Given the description of an element on the screen output the (x, y) to click on. 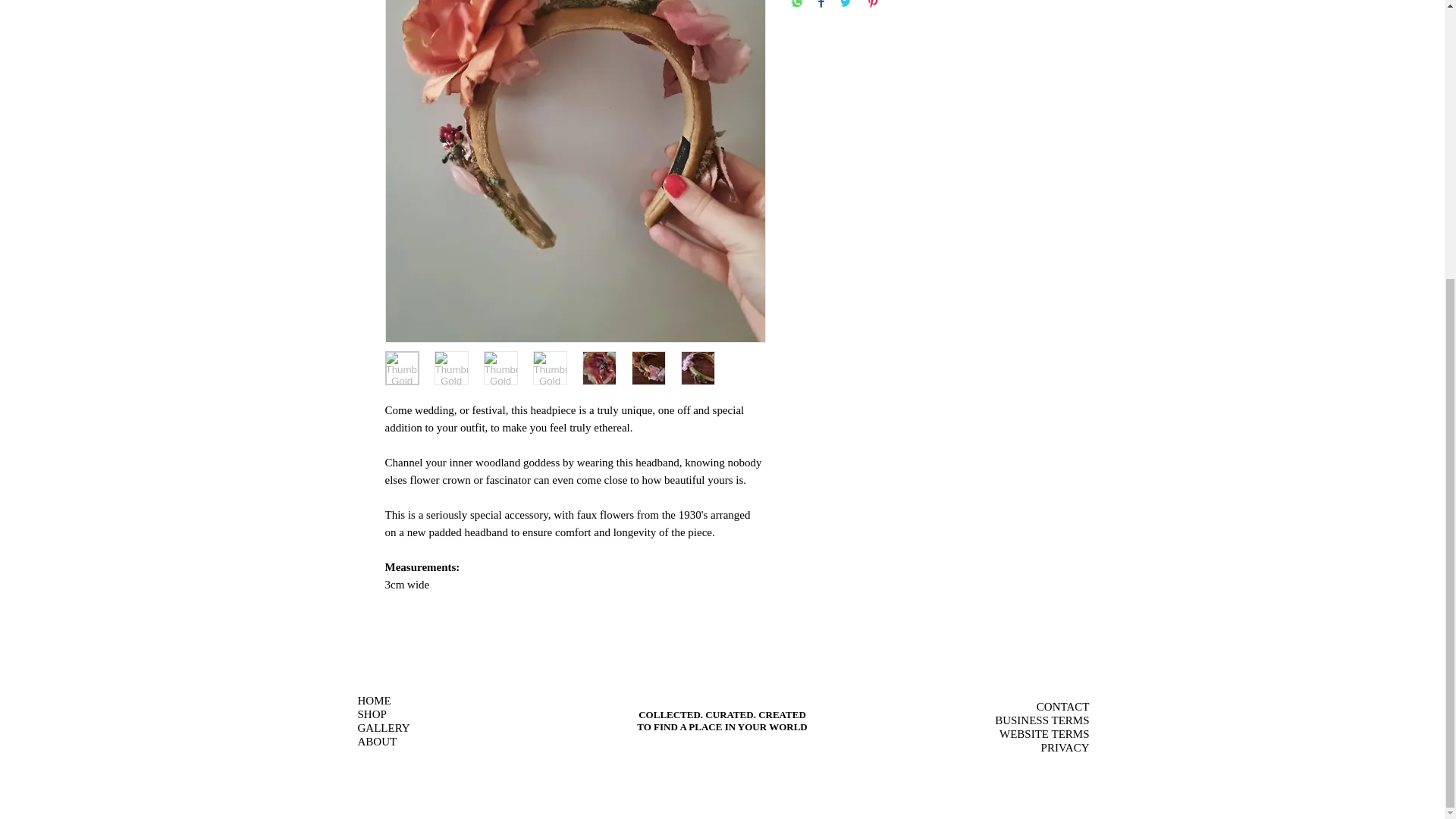
WEBSITE TERMS (1043, 734)
BUSINESS TERMS (1041, 720)
PRIVACY (1065, 747)
HOME (374, 699)
SHOP (372, 713)
ABOUT (377, 741)
CONTACT (1062, 706)
GALLERY (384, 727)
